Given the description of an element on the screen output the (x, y) to click on. 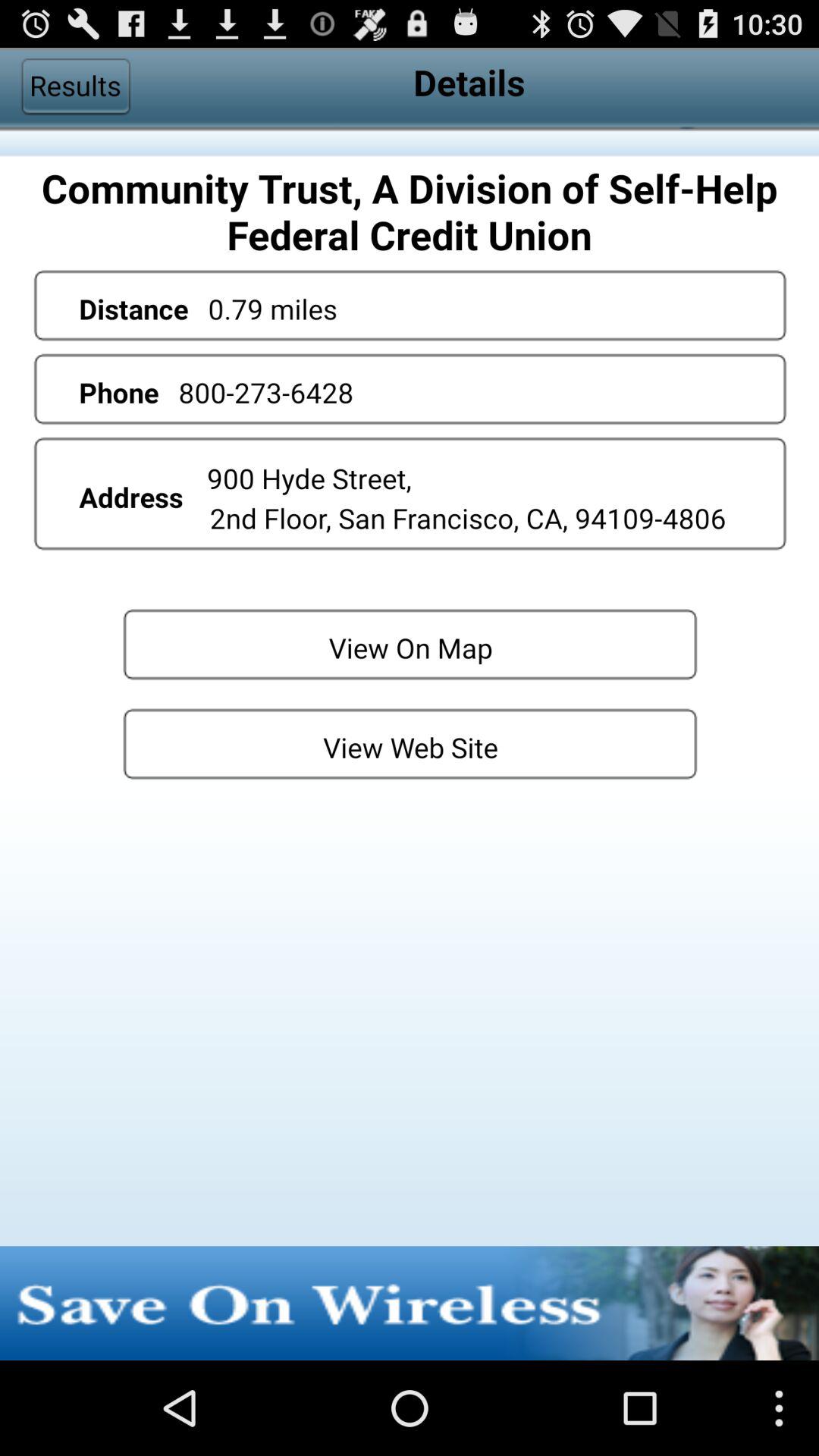
launch results item (75, 86)
